Given the description of an element on the screen output the (x, y) to click on. 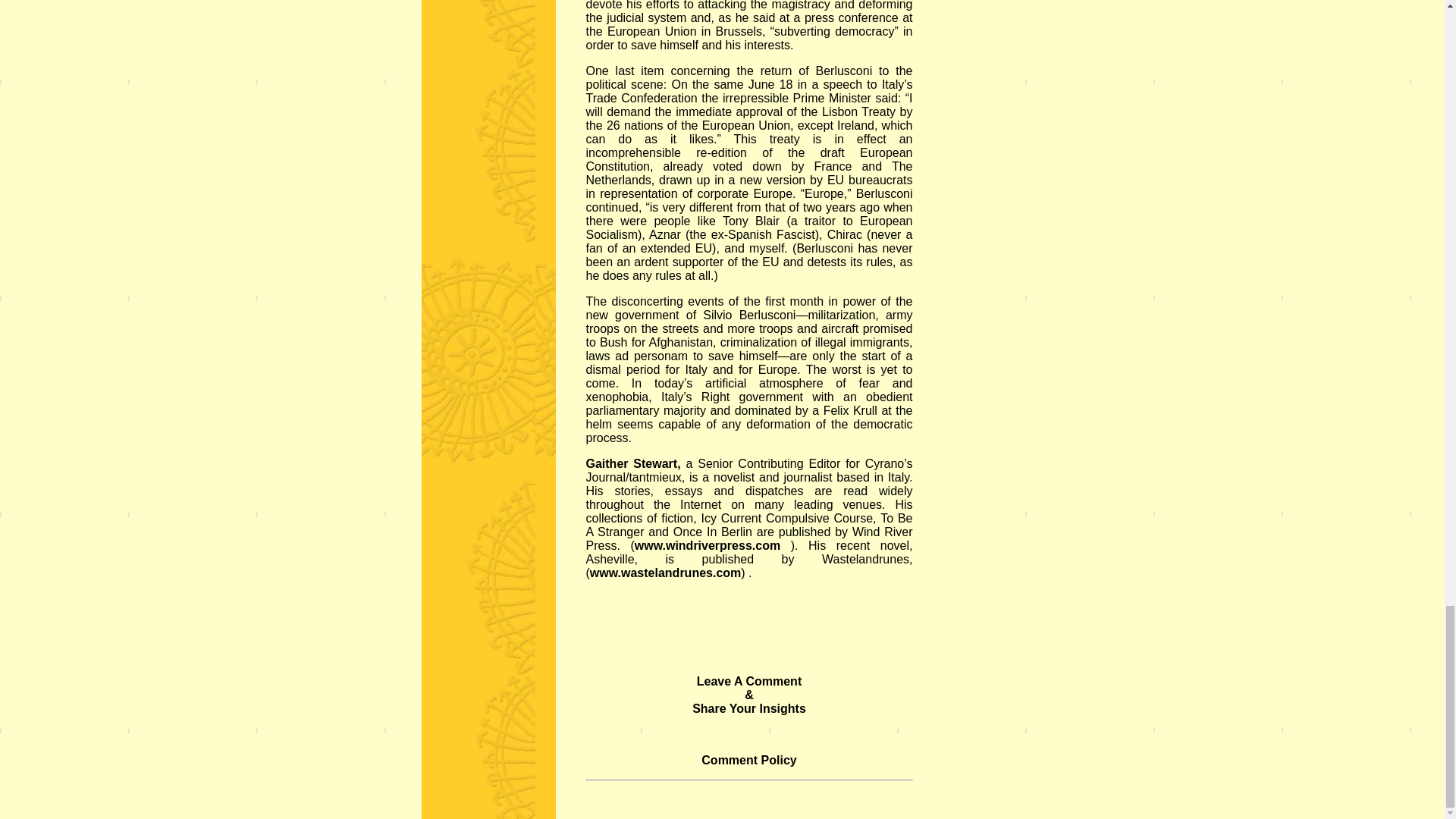
Comment Policy (748, 759)
www.windriverpress.com (707, 545)
www.wastelandrunes.com (665, 572)
